Given the description of an element on the screen output the (x, y) to click on. 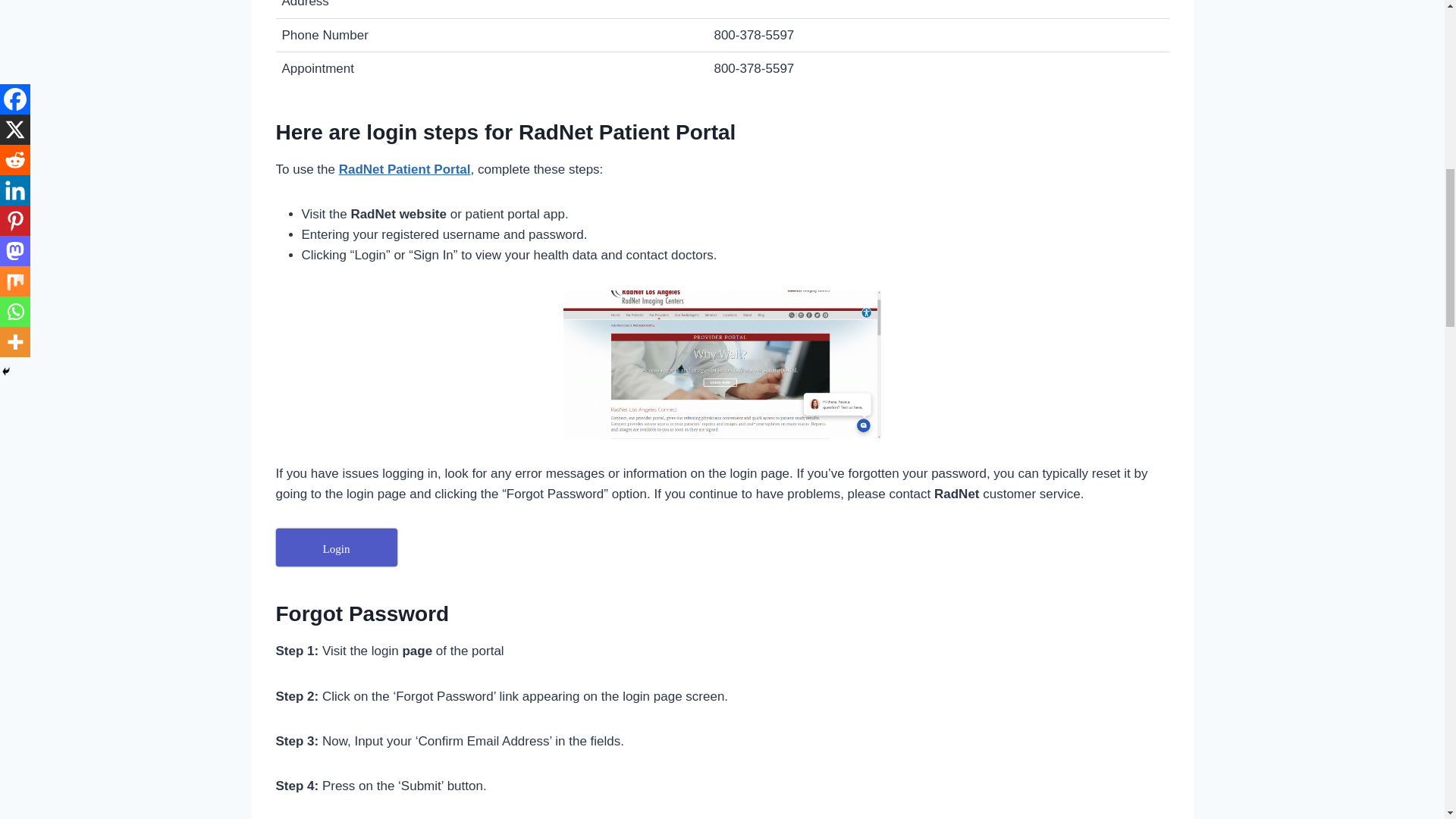
Login (336, 547)
Login (336, 547)
RadNet Patient Portal (404, 169)
